Given the description of an element on the screen output the (x, y) to click on. 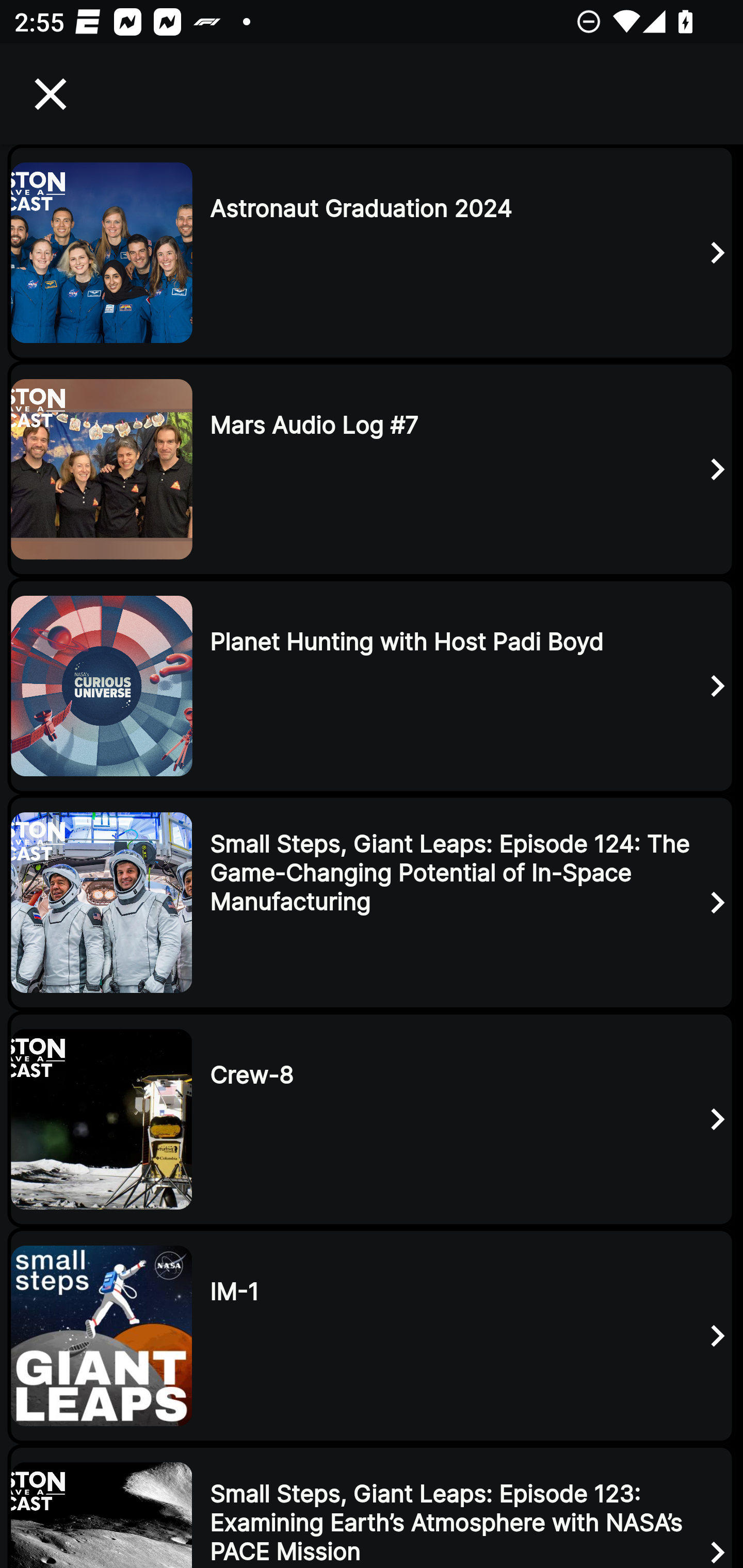
Astronaut Graduation 2024 (371, 252)
Mars Audio Log #7 (371, 468)
Planet Hunting with Host Padi Boyd (371, 685)
Crew-8 (371, 1119)
IM-1 (371, 1335)
